Given the description of an element on the screen output the (x, y) to click on. 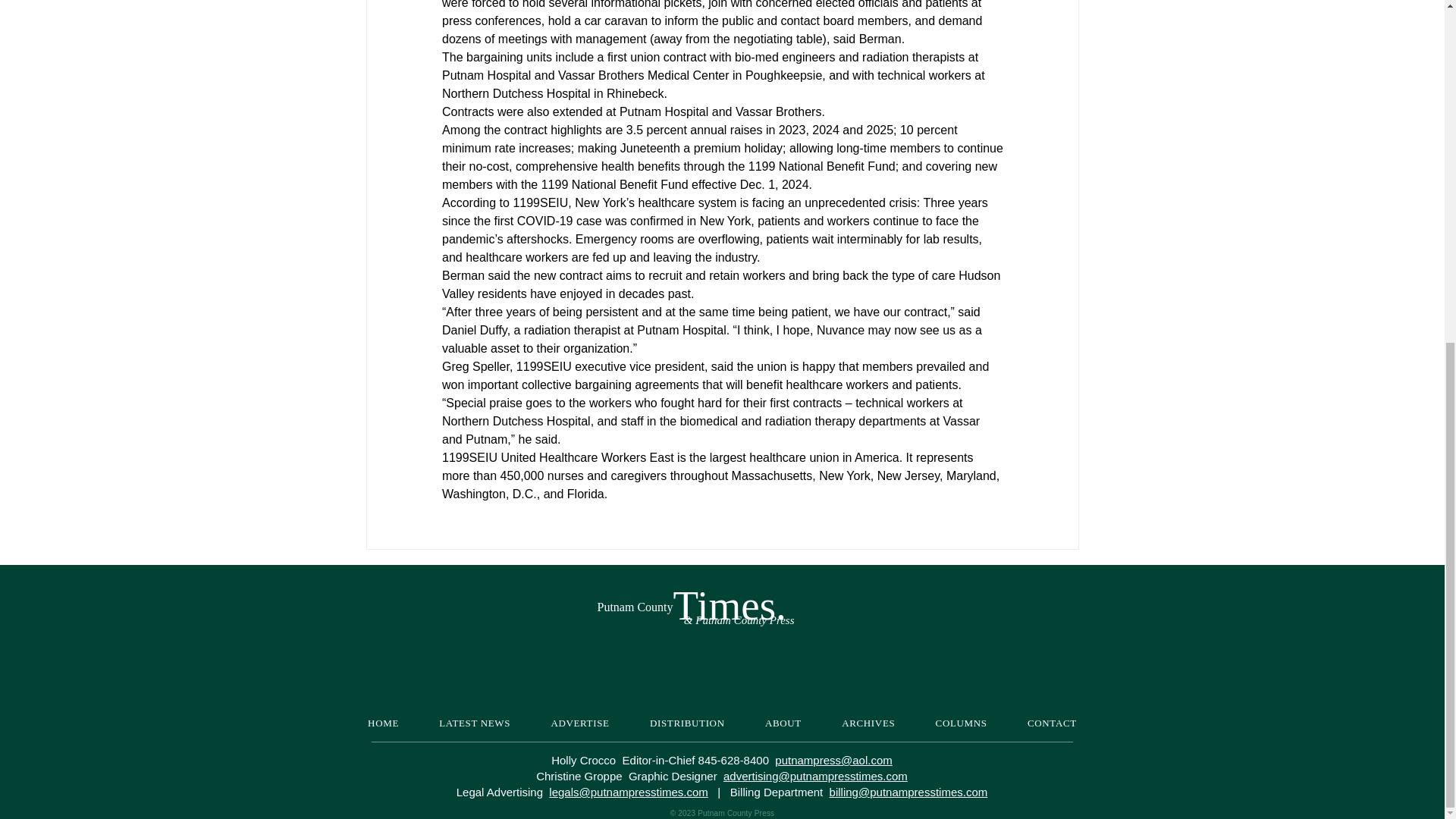
ARCHIVES (868, 723)
LATEST NEWS (474, 723)
Back to Top (54, 135)
ADVERTISE (580, 723)
ABOUT (783, 723)
CONTACT (1051, 723)
HOME (382, 723)
COLUMNS (961, 723)
Times. (729, 605)
DISTRIBUTION (686, 723)
